Given the description of an element on the screen output the (x, y) to click on. 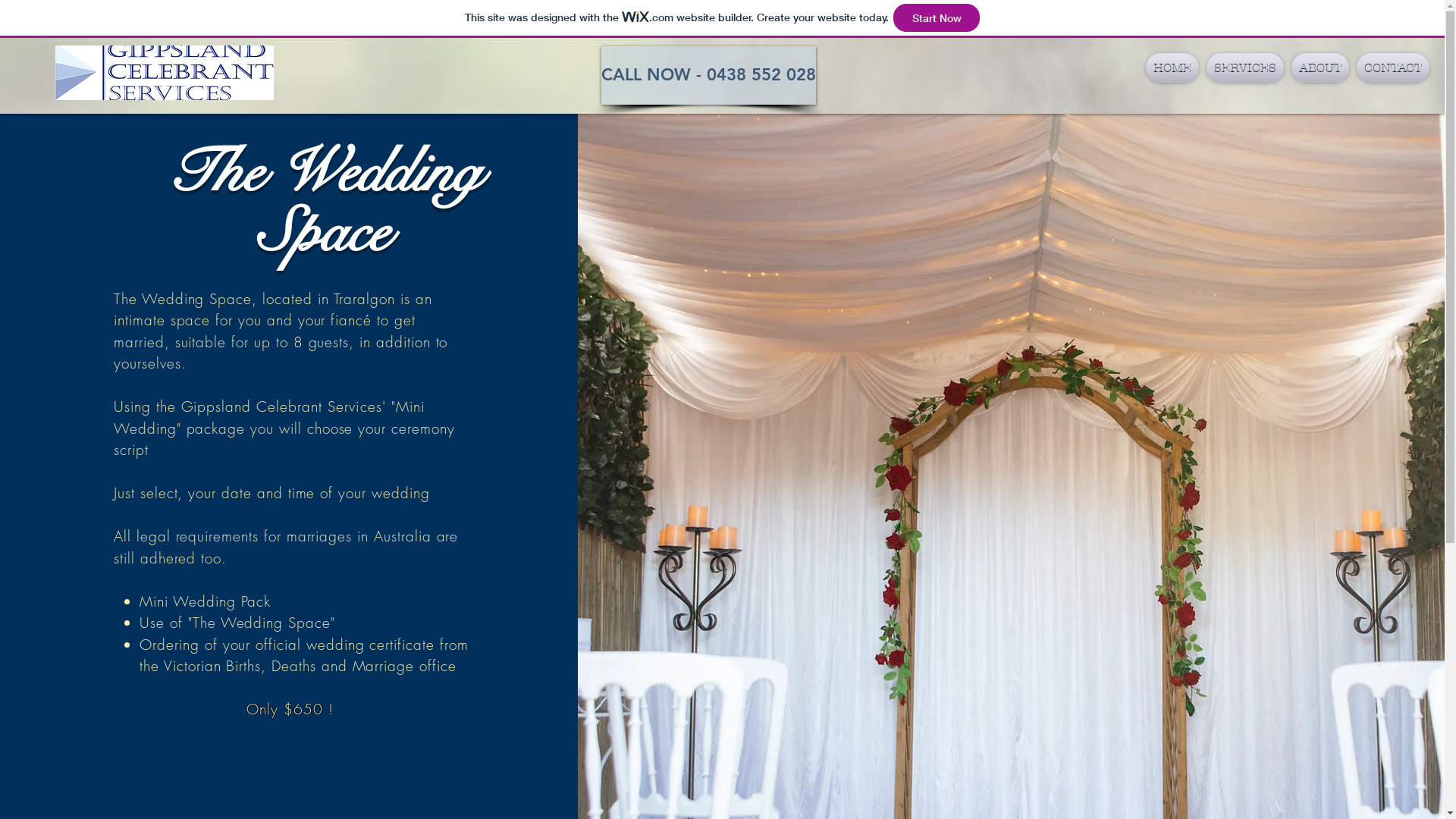
ABOUT Element type: text (1319, 67)
CALL NOW - 0438 552 028 Element type: text (707, 75)
SERVICES Element type: text (1244, 67)
CONTACT Element type: text (1390, 67)
HOME Element type: text (1172, 67)
